Given the description of an element on the screen output the (x, y) to click on. 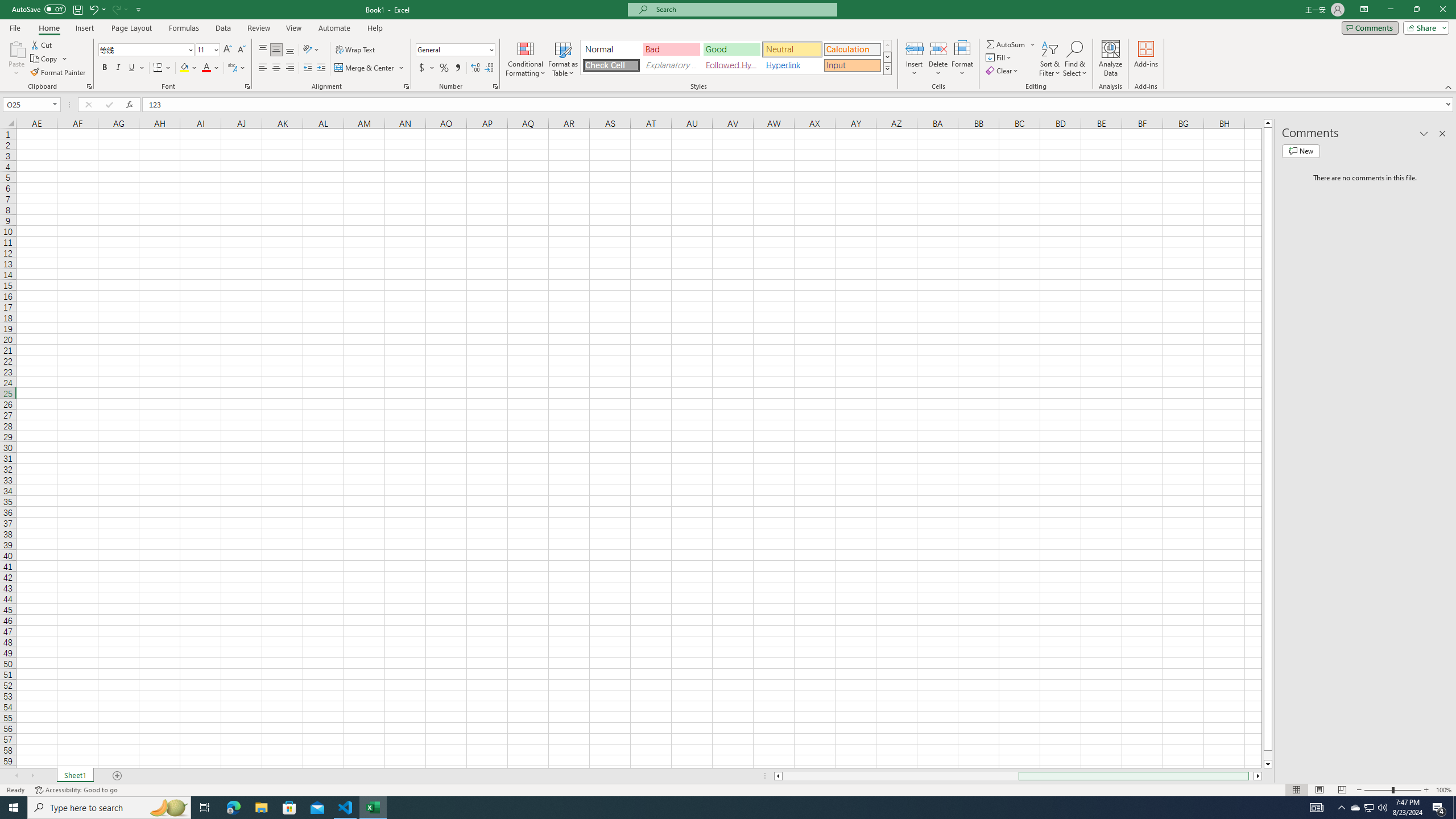
Font Size (204, 49)
Conditional Formatting (525, 58)
Decrease Decimal (489, 67)
Format Painter (58, 72)
Bad (671, 49)
Align Left (262, 67)
